Given the description of an element on the screen output the (x, y) to click on. 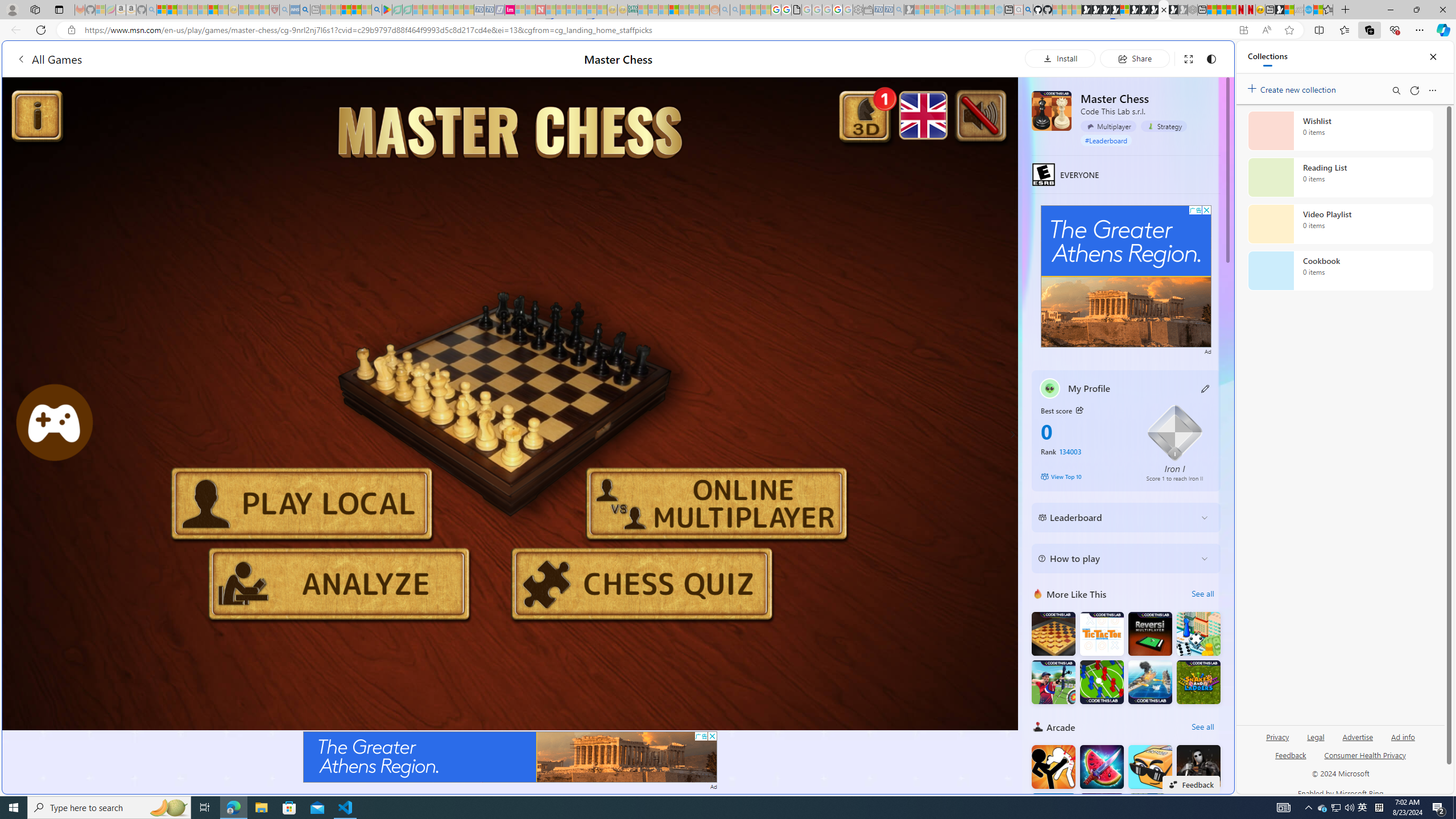
Wishlist collection, 0 items (1339, 130)
Hotel Manager (1198, 633)
World - MSN (1288, 9)
Latest Politics News & Archive | Newsweek.com - Sleeping (539, 9)
